Given the description of an element on the screen output the (x, y) to click on. 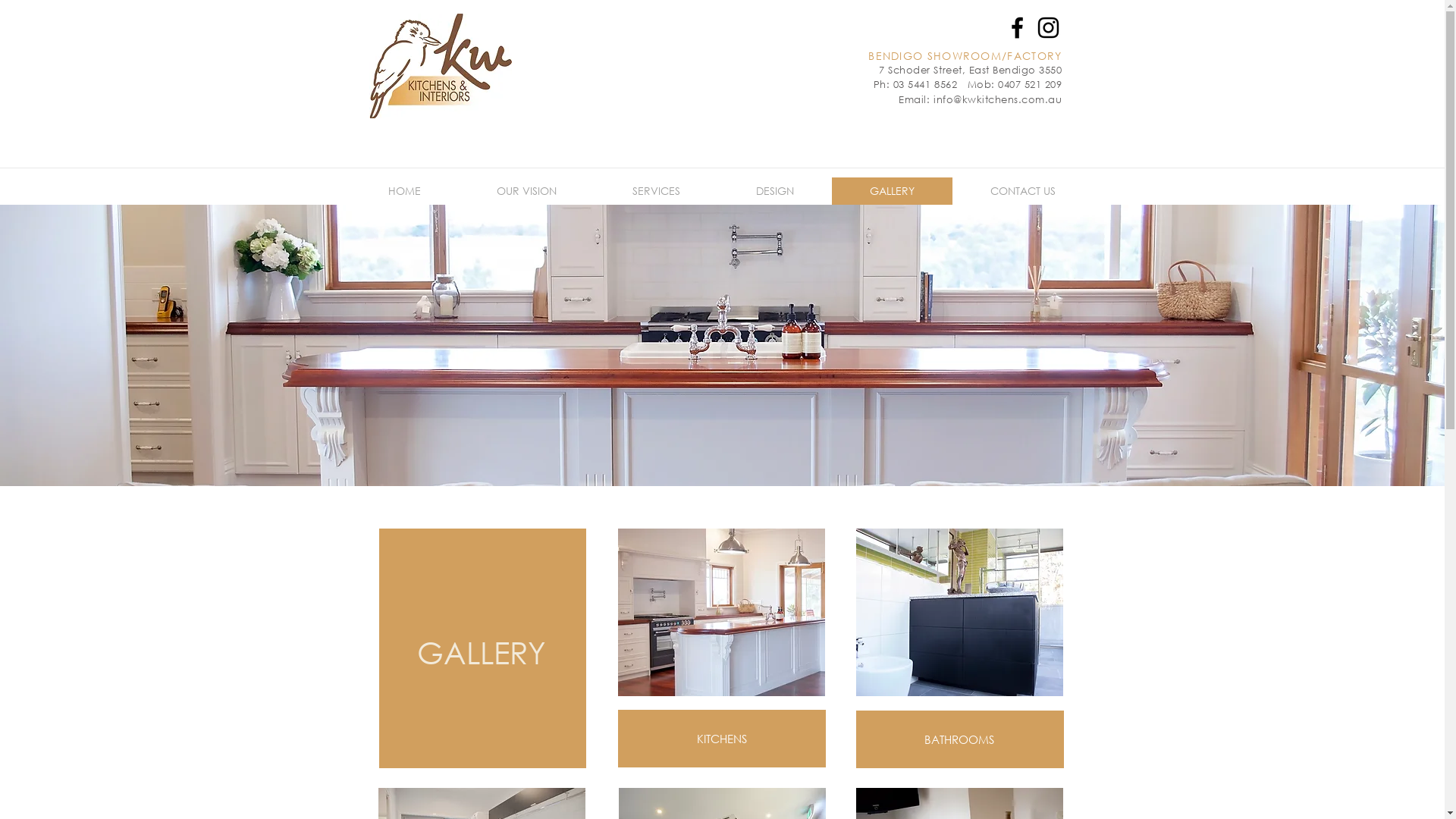
BATHROOMS Element type: text (959, 739)
HOME Element type: text (404, 190)
DESIGN Element type: text (774, 190)
SERVICES Element type: text (656, 190)
GALLERY Element type: text (891, 190)
CONTACT US Element type: text (1022, 190)
KITCHENS Element type: text (721, 738)
OUR VISION Element type: text (525, 190)
